Given the description of an element on the screen output the (x, y) to click on. 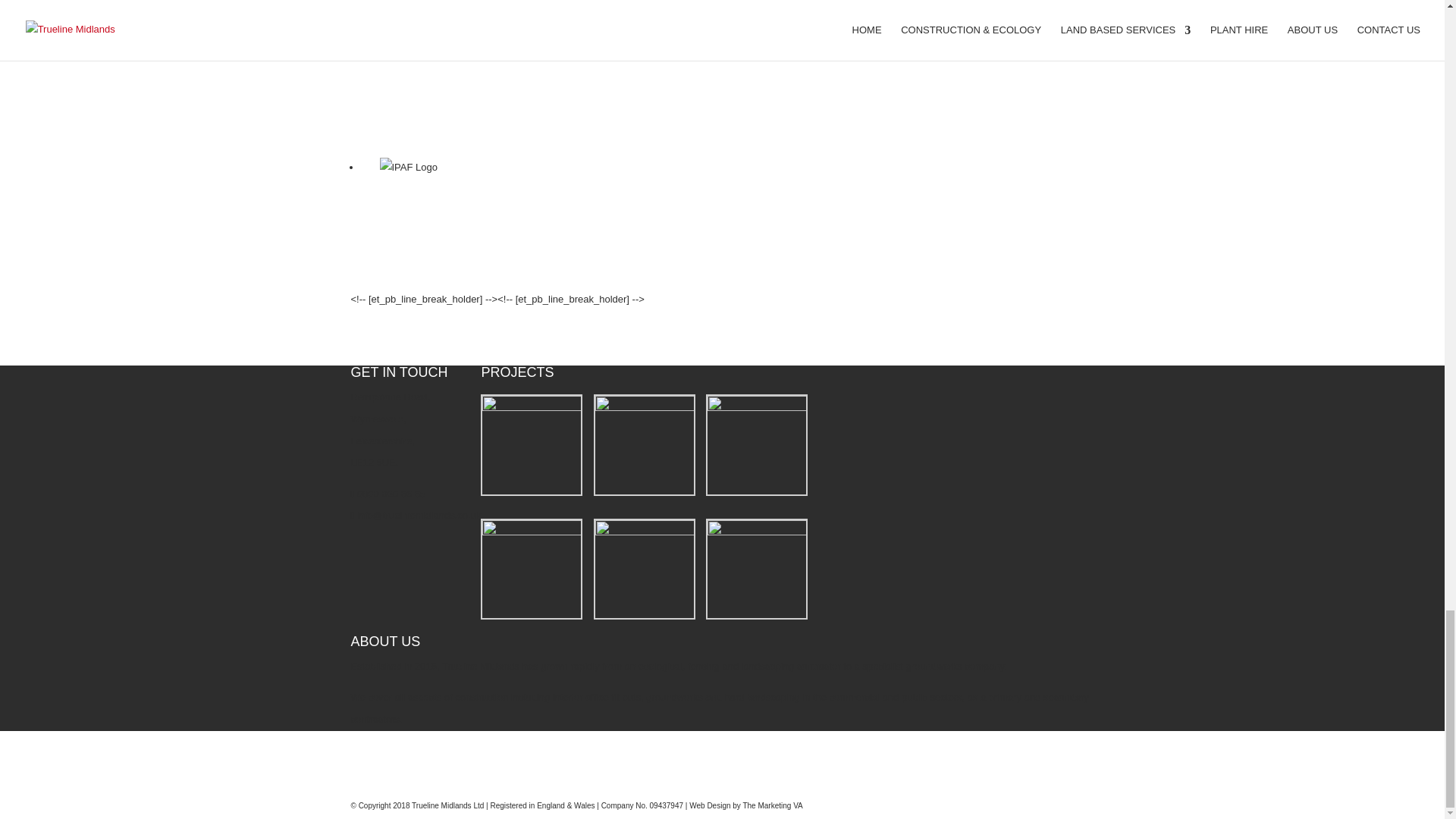
COOKIE POLICY (389, 762)
Web Design by The Marketing VA (745, 805)
CPCS (399, 53)
TERMS AND CONDITIONS (410, 740)
IPAF Logo (409, 167)
DOCUMENTS (381, 784)
